Given the description of an element on the screen output the (x, y) to click on. 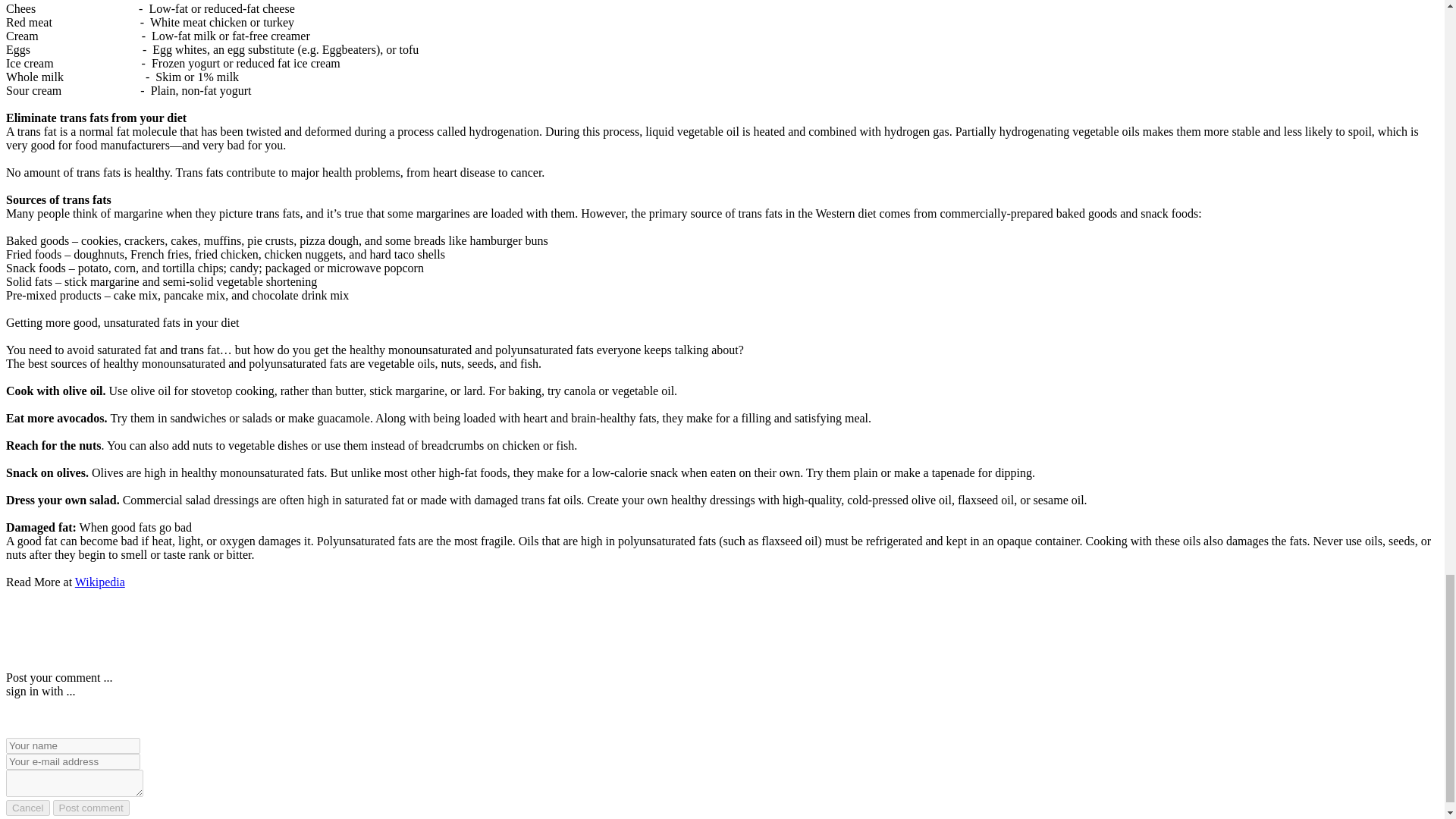
Wikipedia (100, 581)
Cancel (27, 807)
Post comment (90, 807)
